Given the description of an element on the screen output the (x, y) to click on. 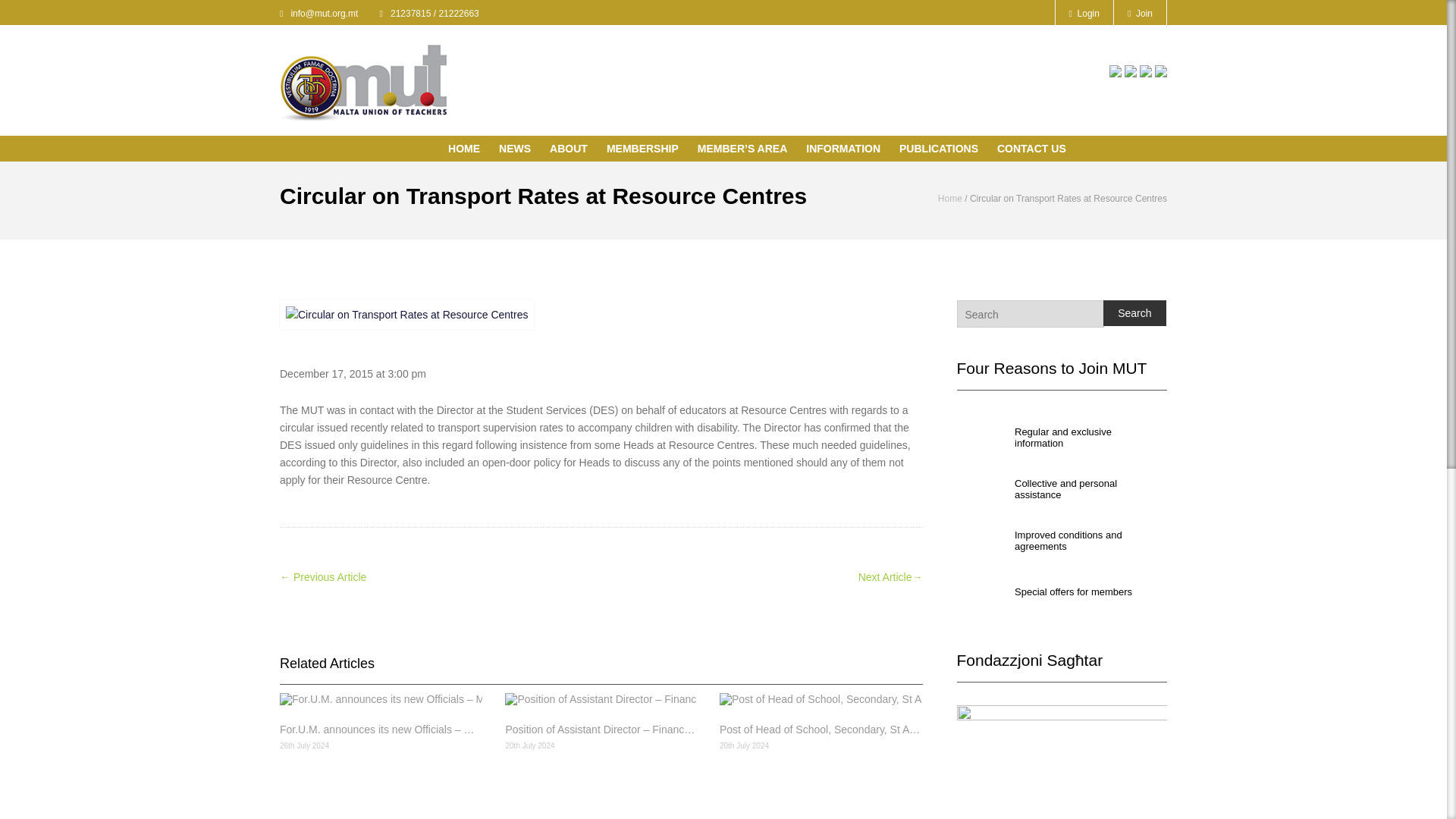
  Join (1140, 13)
NEWS (518, 150)
HOME (467, 150)
ABOUT (572, 150)
  Login (1083, 13)
MEMBERSHIP (646, 150)
Search (1134, 312)
